Given the description of an element on the screen output the (x, y) to click on. 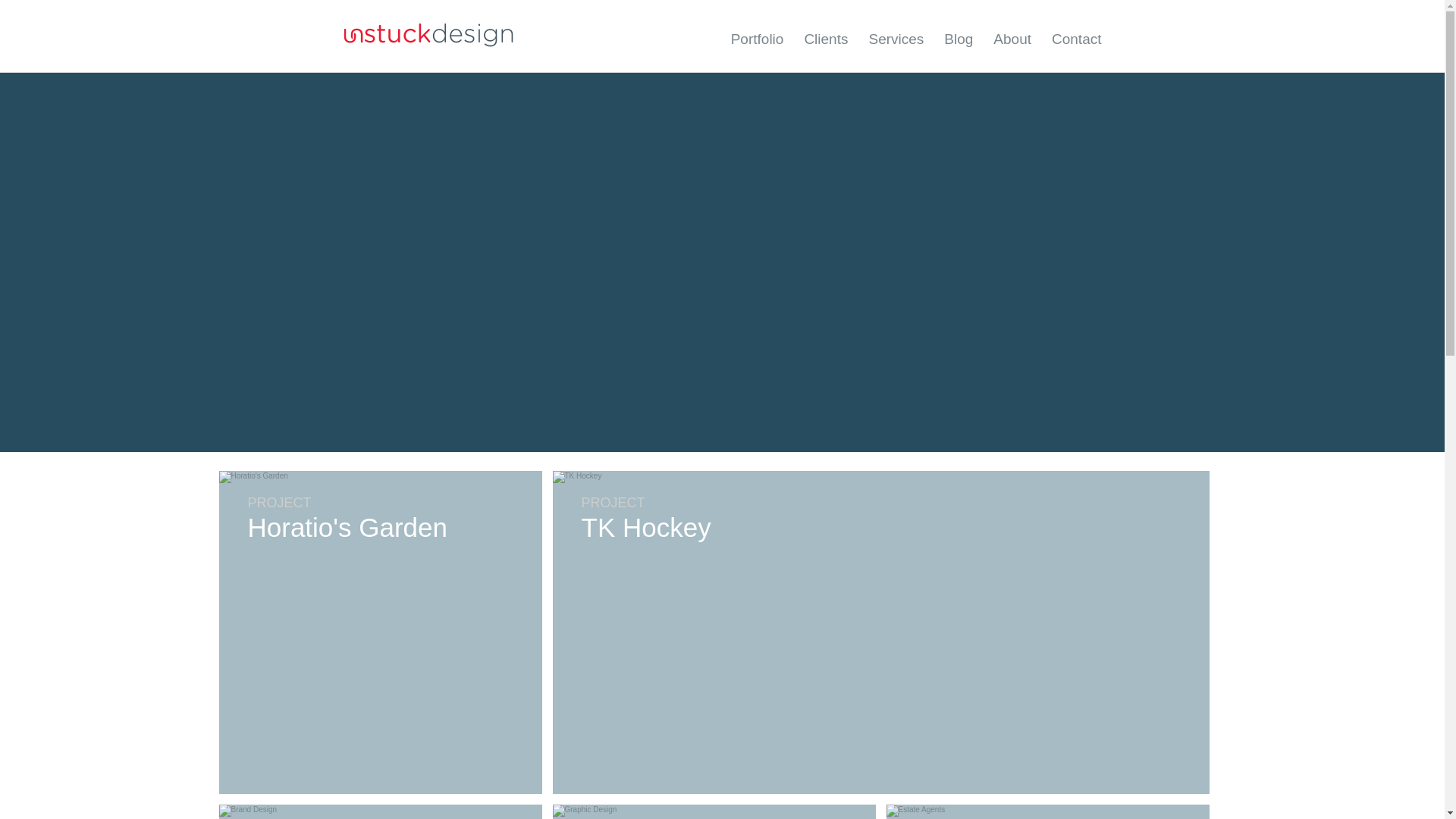
Contact (1075, 39)
Clients (825, 39)
Services (895, 39)
About (1011, 39)
Portfolio (757, 39)
Blog (957, 39)
